Given the description of an element on the screen output the (x, y) to click on. 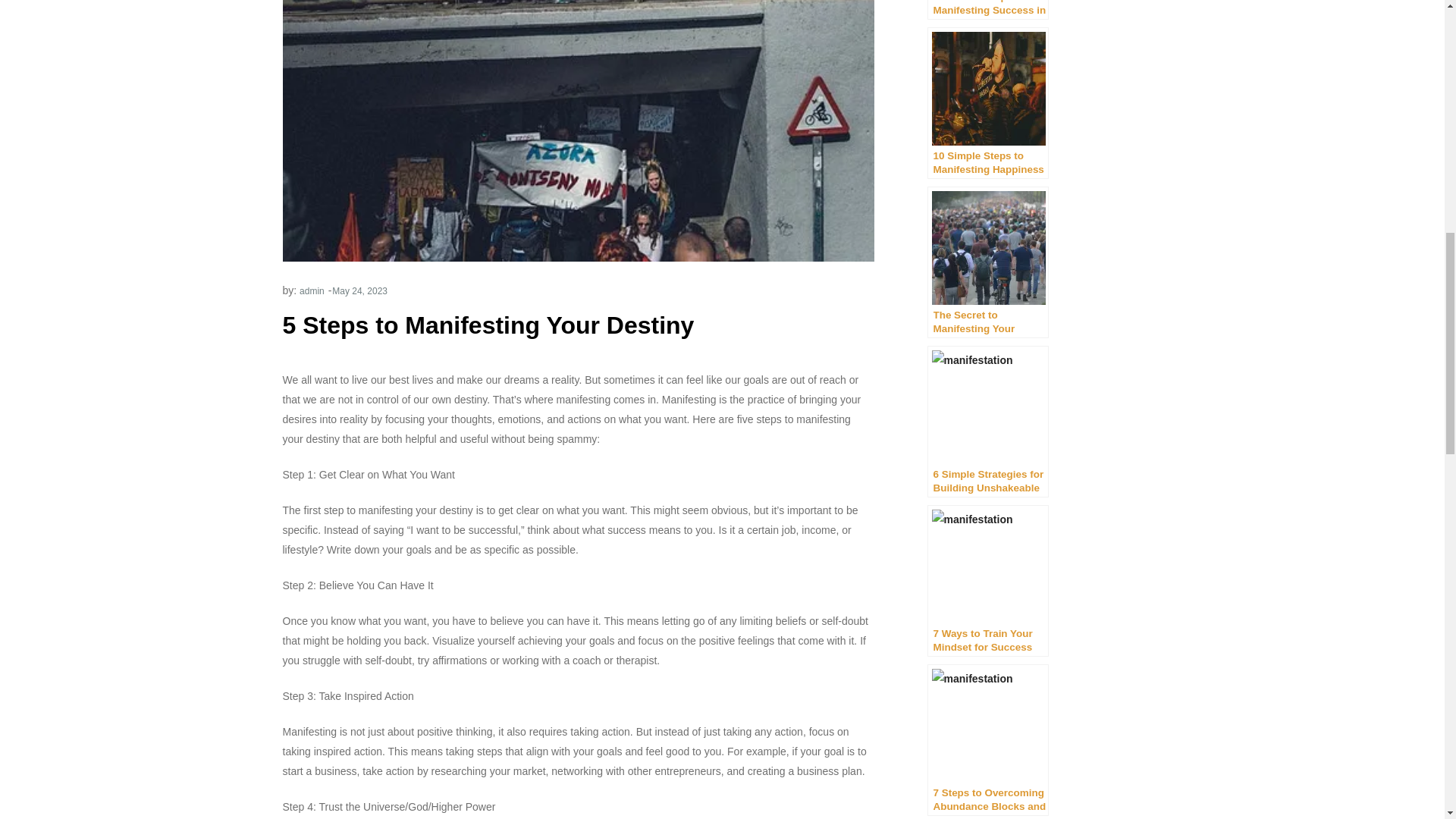
admin (311, 290)
May 24, 2023 (359, 290)
10 Proven Steps for Manifesting Success in Your Life (987, 9)
10 Proven Steps for Manifesting Success in Your Life (987, 9)
